Given the description of an element on the screen output the (x, y) to click on. 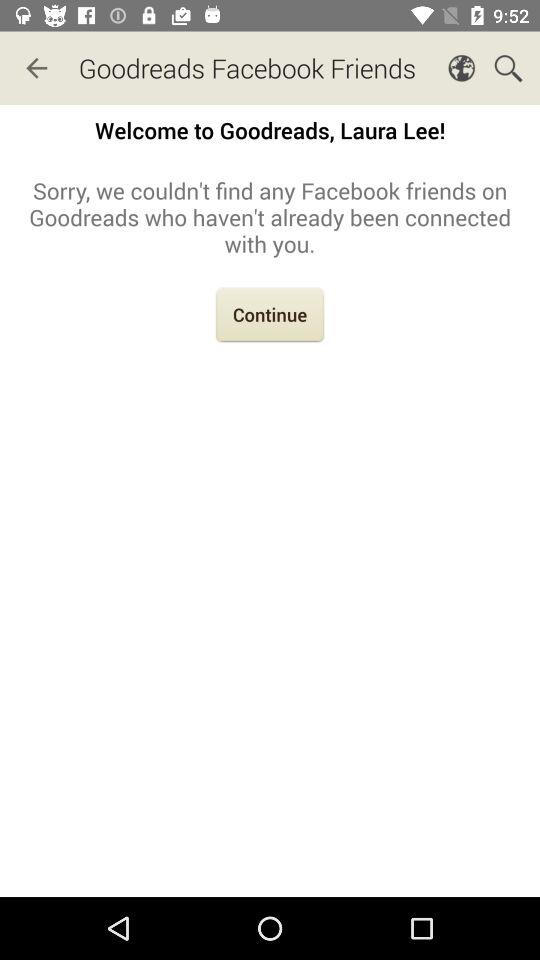
turn off icon next to goodreads facebook friends (36, 68)
